Given the description of an element on the screen output the (x, y) to click on. 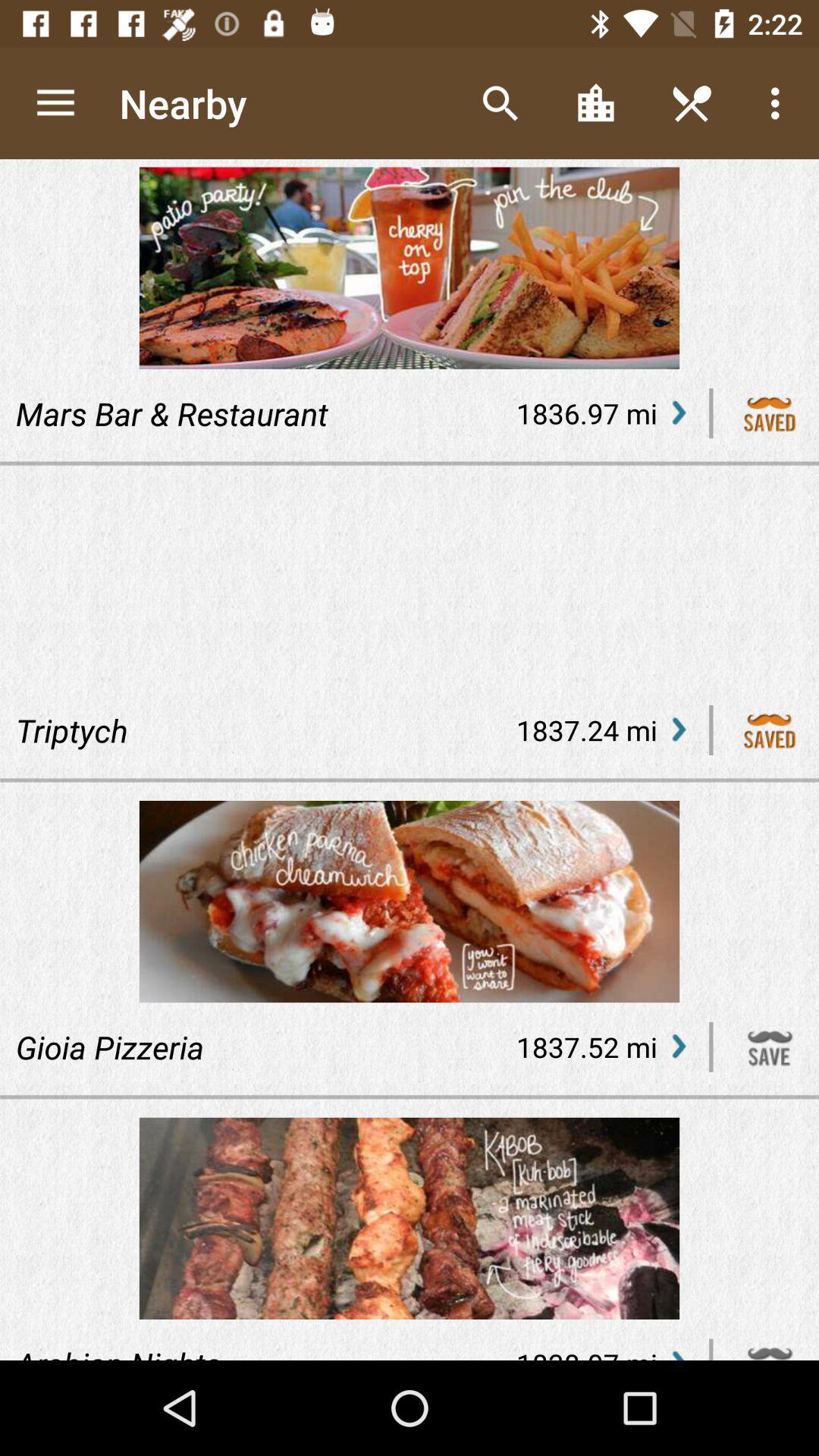
save this item (770, 1046)
